Given the description of an element on the screen output the (x, y) to click on. 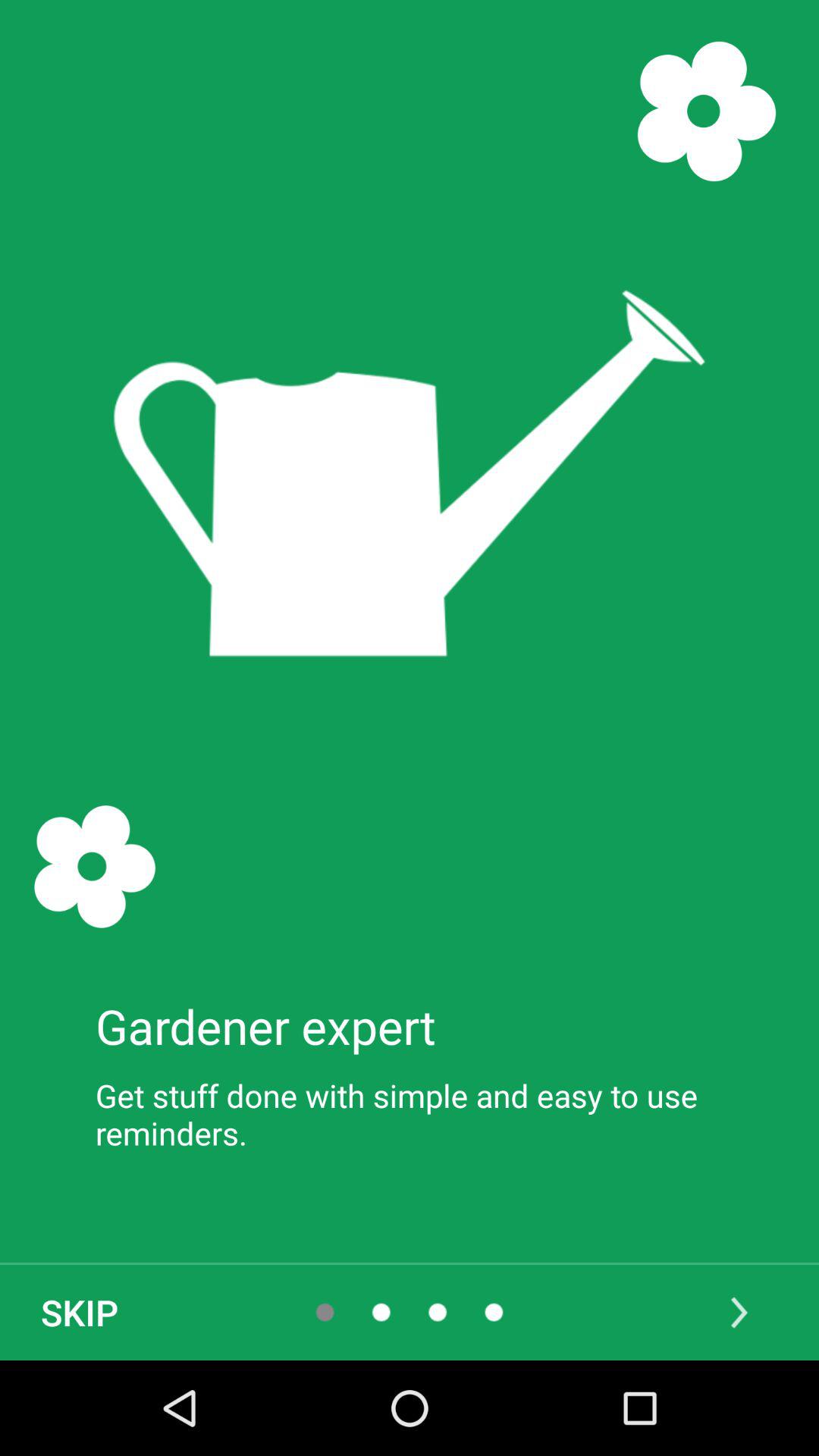
press icon at the bottom right corner (739, 1312)
